Given the description of an element on the screen output the (x, y) to click on. 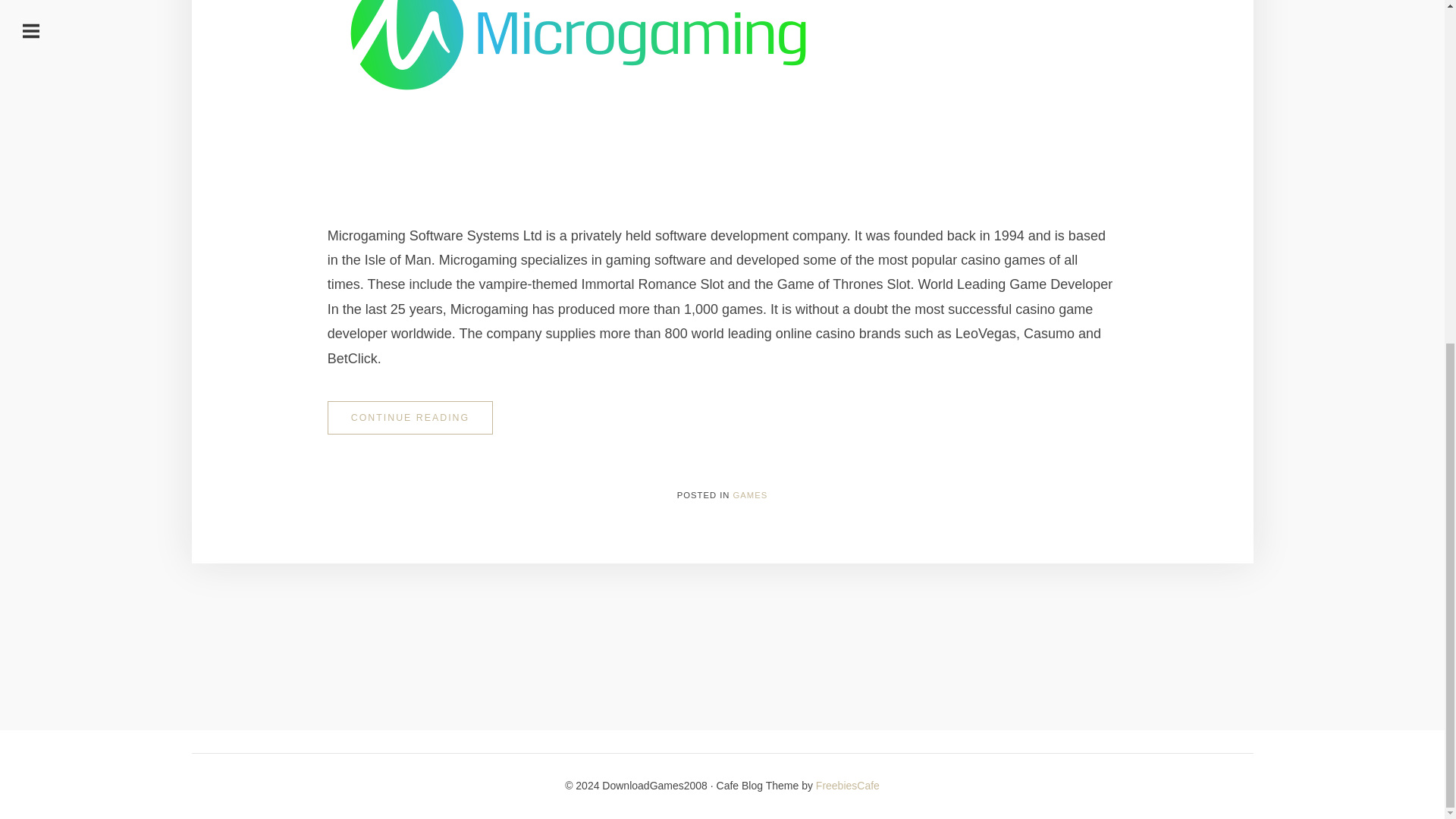
Handpicked Free Web Design Resources (847, 785)
CONTINUE READING (410, 417)
